Given the description of an element on the screen output the (x, y) to click on. 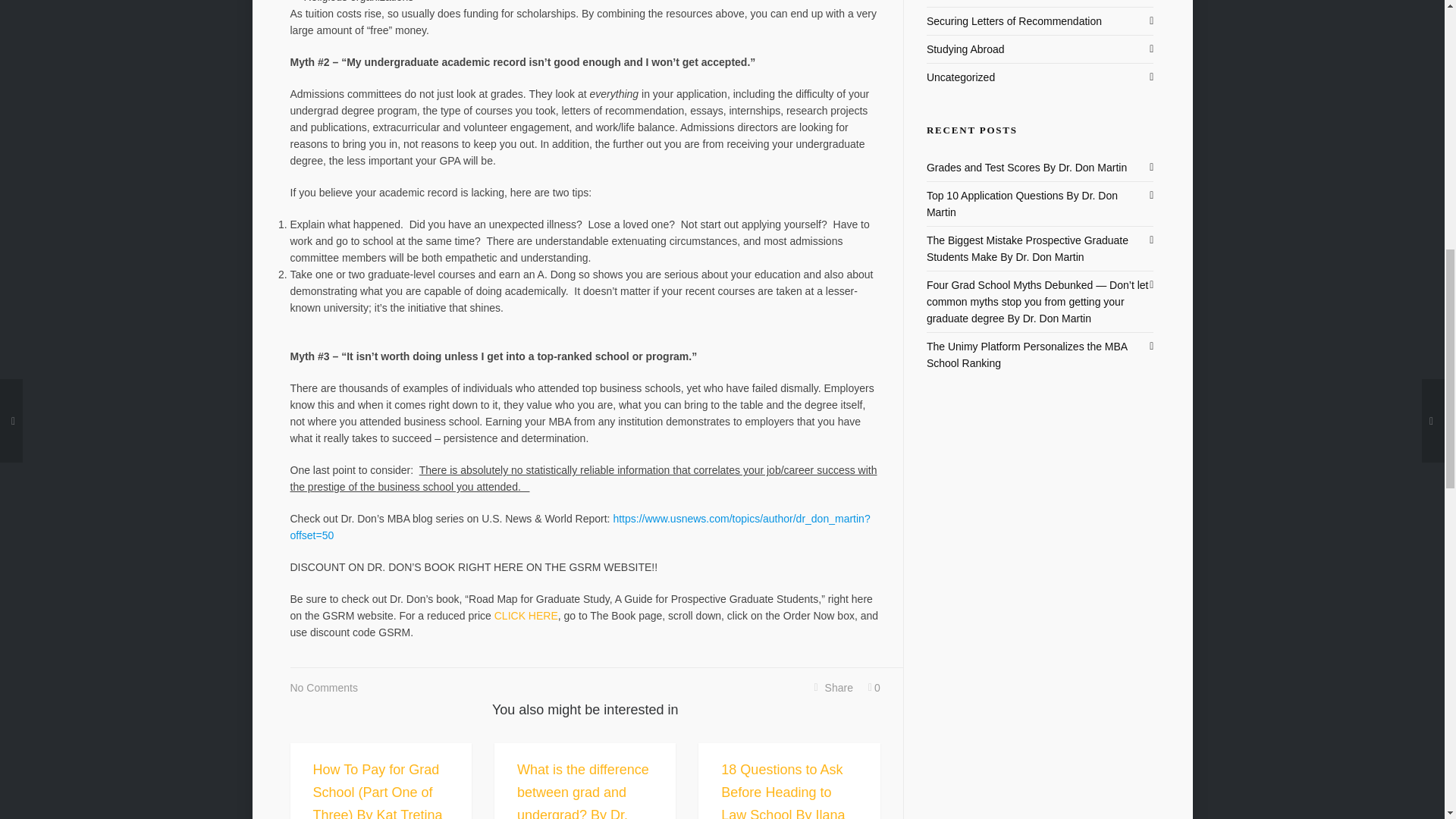
No Comments (322, 687)
CLICK HERE (526, 615)
No Comments (322, 687)
